Given the description of an element on the screen output the (x, y) to click on. 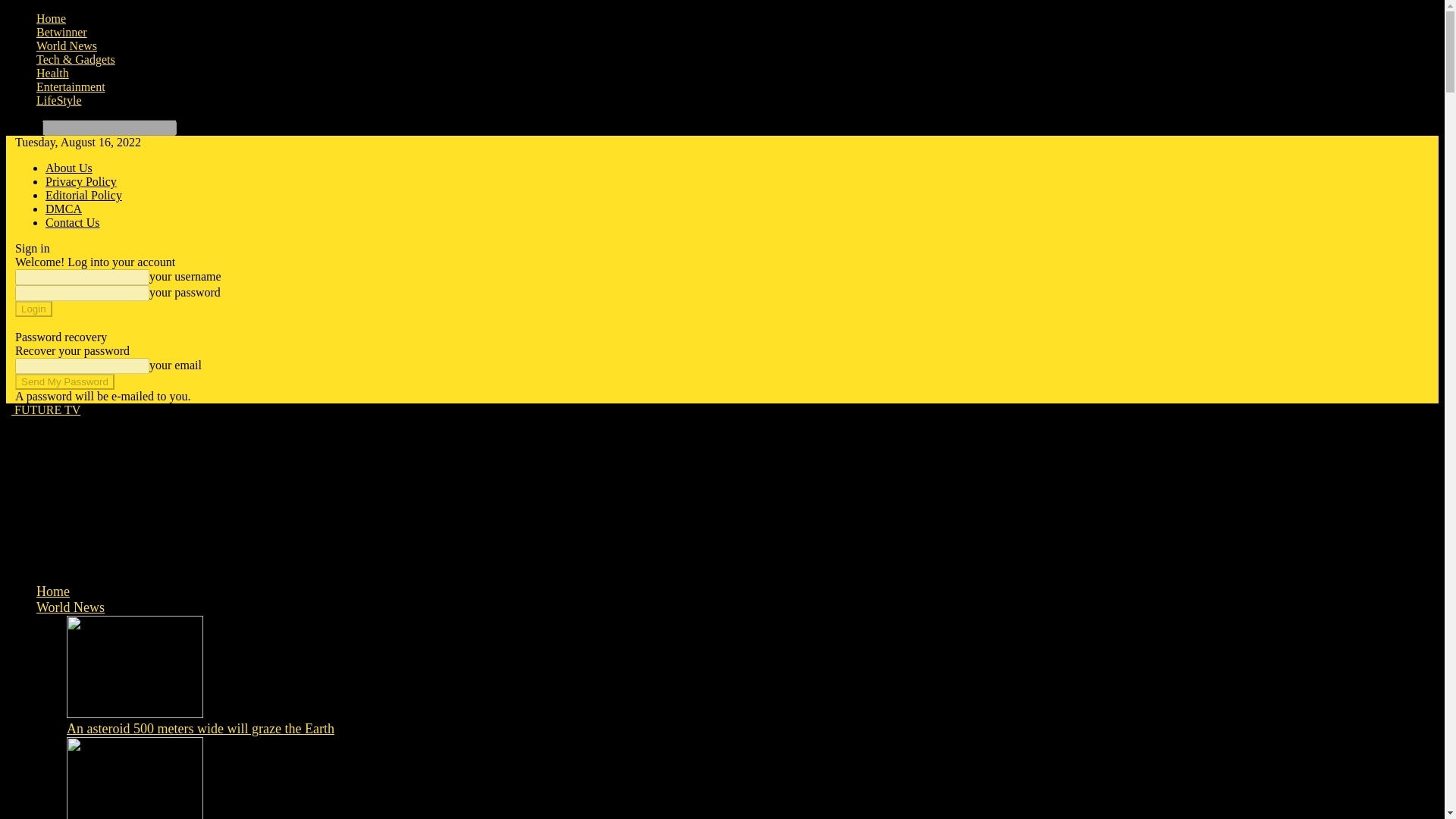
Send My Password (64, 381)
Login (33, 308)
Contact Us (72, 222)
Home (50, 18)
Health (52, 72)
Home (52, 590)
LifeStyle (58, 100)
Editorial Policy (83, 195)
